Given the description of an element on the screen output the (x, y) to click on. 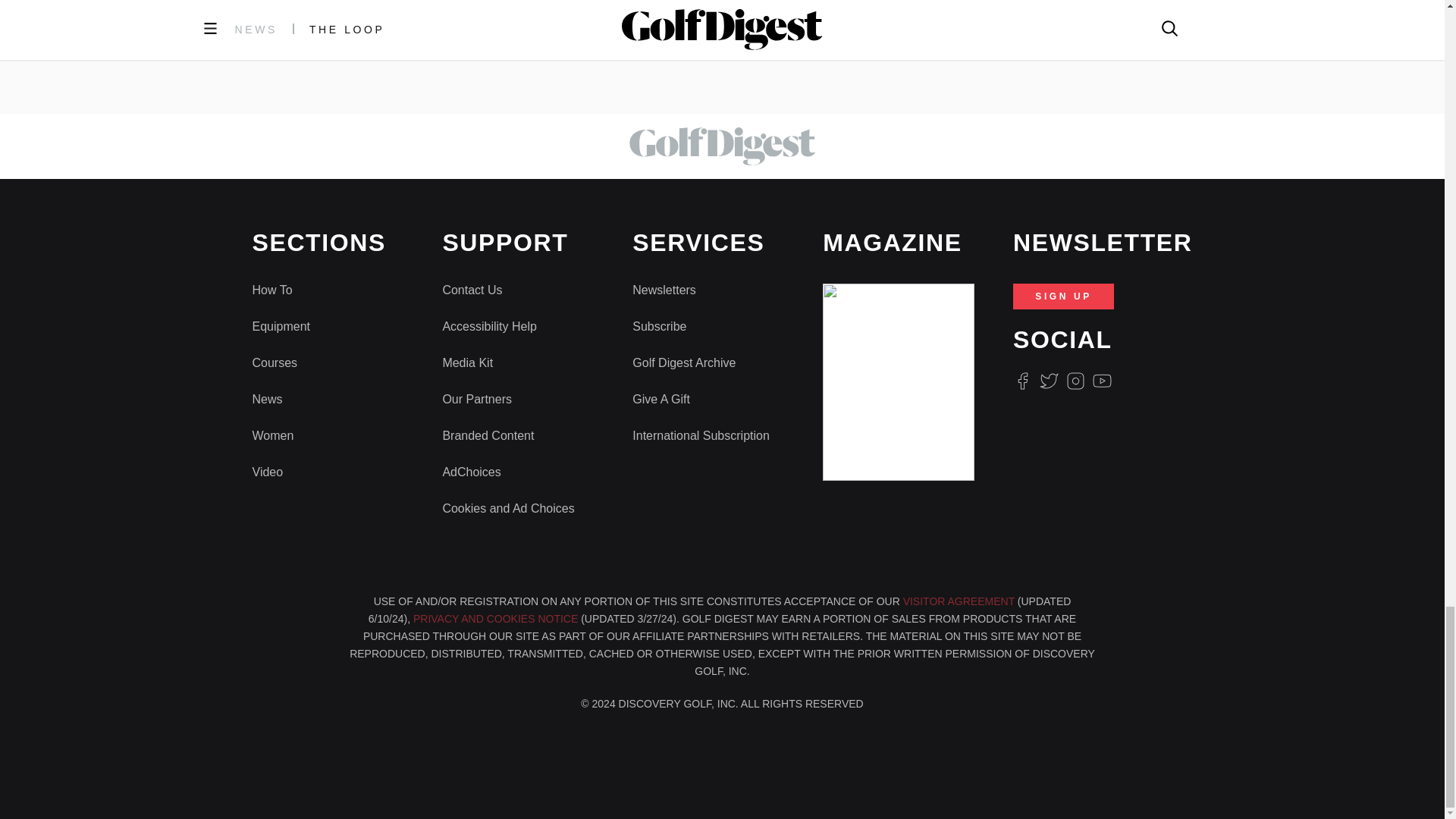
Youtube Icon (1102, 380)
Twitter Logo (1048, 380)
Instagram Logo (1074, 380)
Facebook Logo (1022, 380)
